Given the description of an element on the screen output the (x, y) to click on. 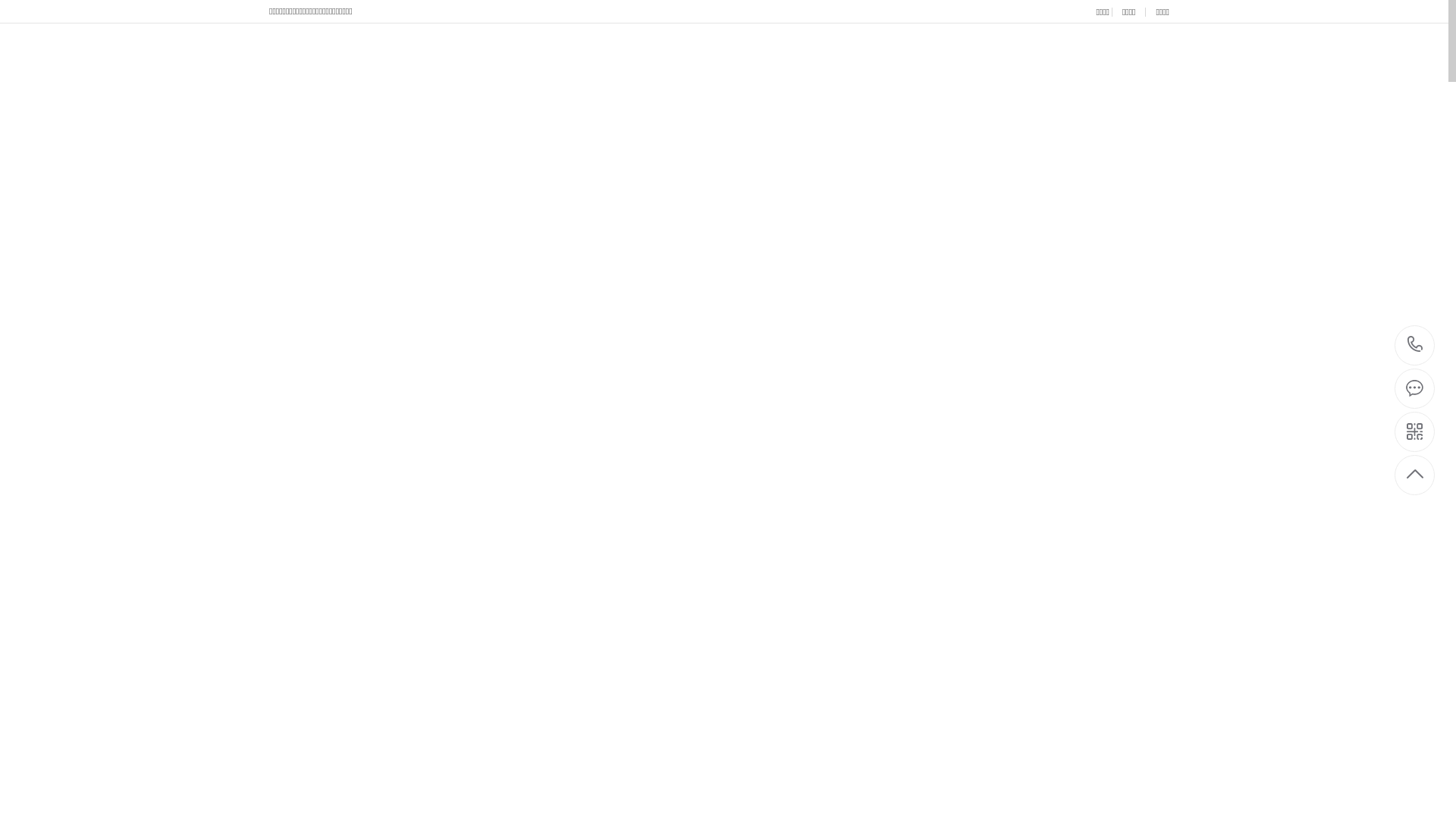
0577-86628279 Element type: text (1415, 345)
